Given the description of an element on the screen output the (x, y) to click on. 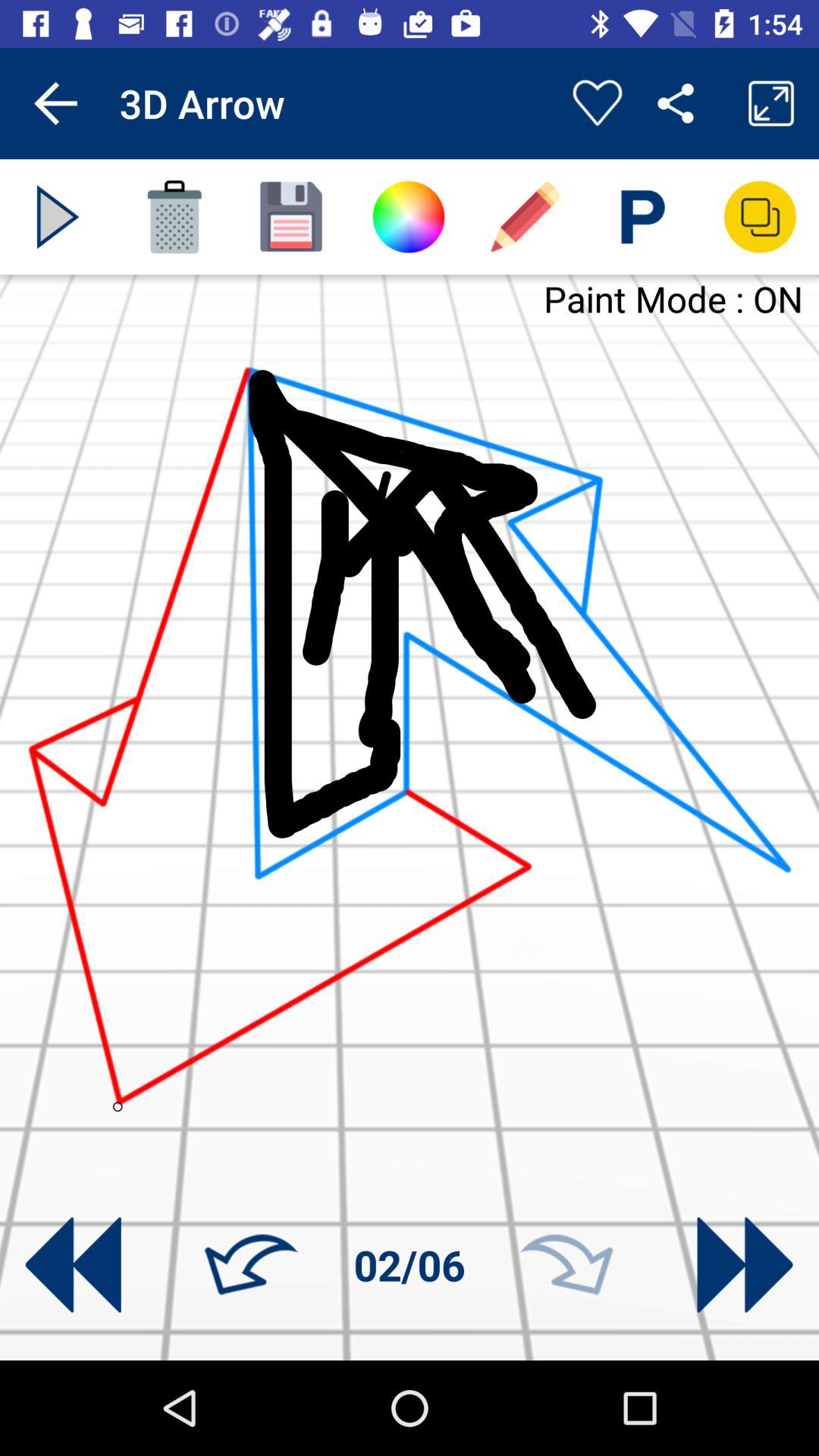
like the draw 3d app (597, 102)
